Given the description of an element on the screen output the (x, y) to click on. 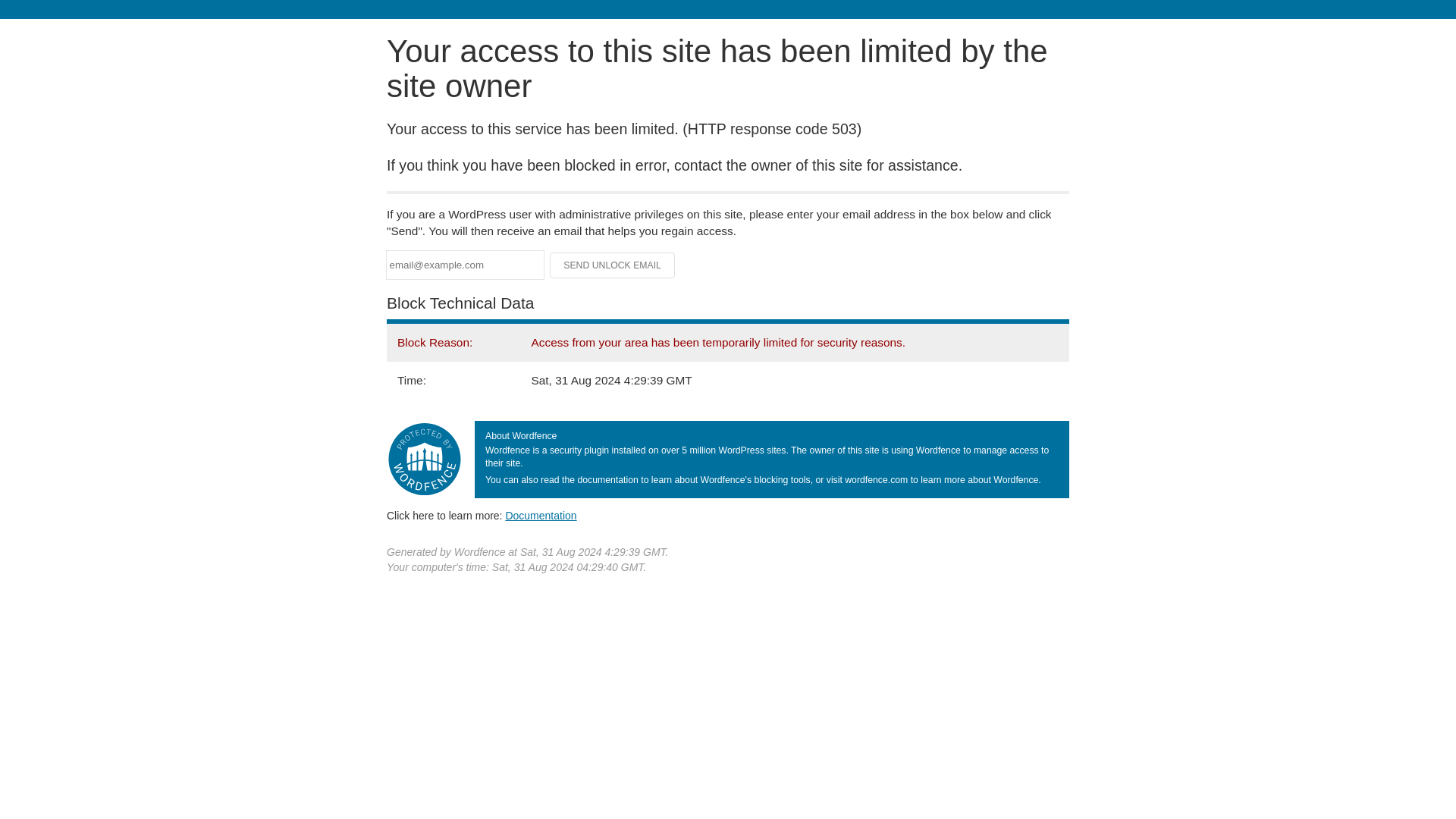
Send Unlock Email (612, 265)
Documentation (540, 515)
Send Unlock Email (612, 265)
